Given the description of an element on the screen output the (x, y) to click on. 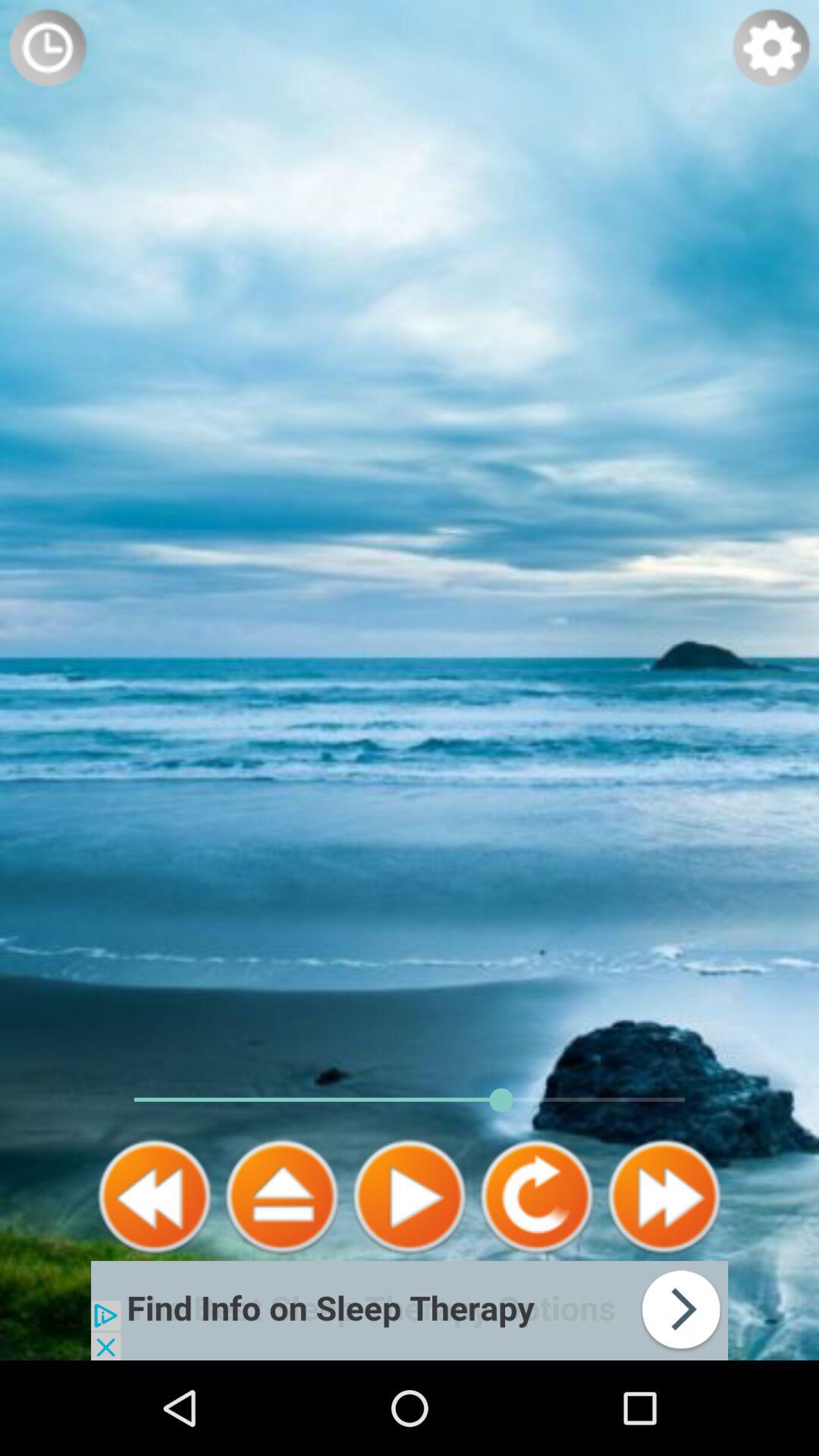
skip song (664, 1196)
